Given the description of an element on the screen output the (x, y) to click on. 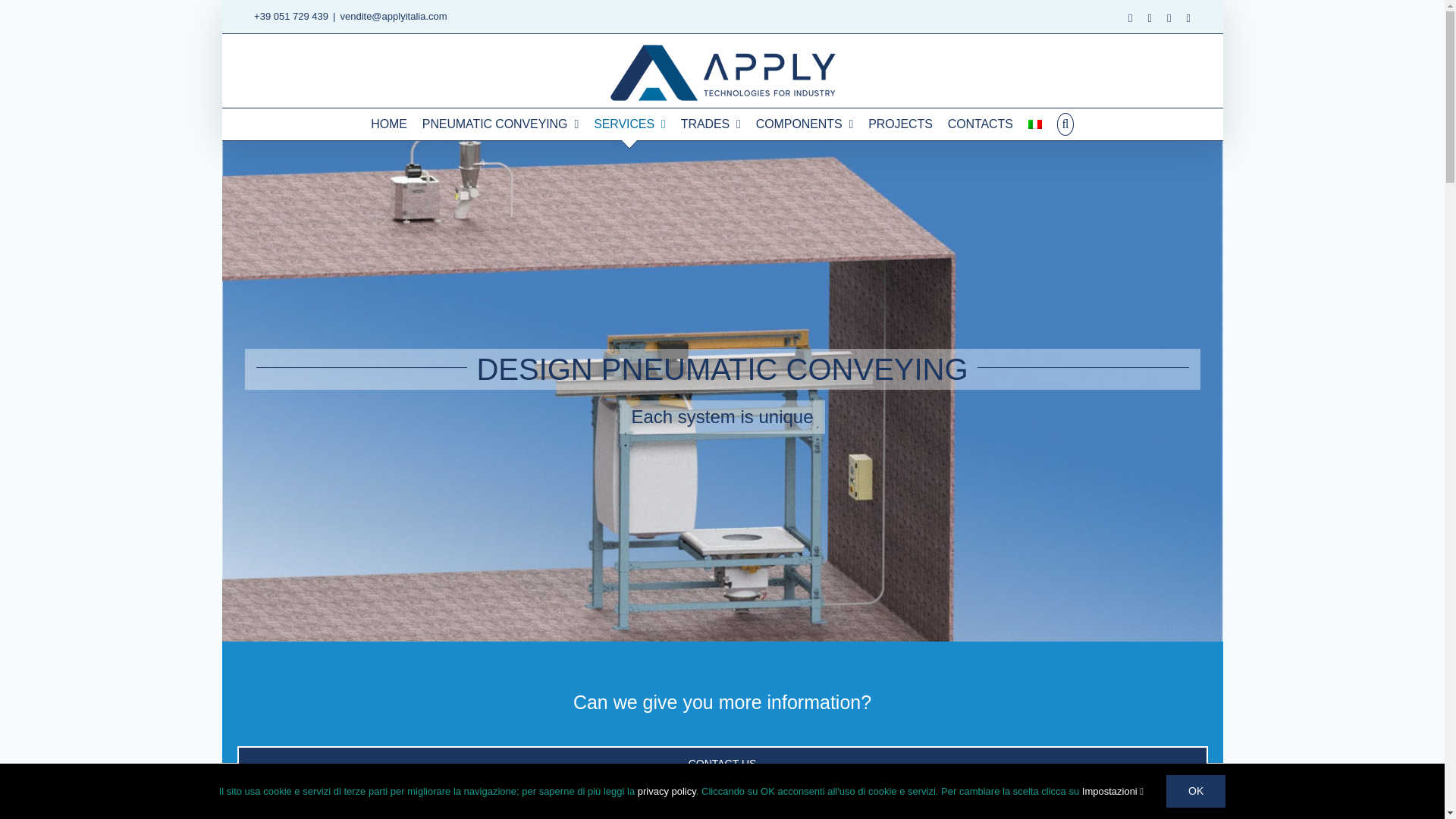
PROJECTS (900, 124)
SERVICES (629, 124)
Can we give you more information? (722, 701)
PNEUMATIC CONVEYING (500, 124)
HOME (389, 124)
COMPONENTS (804, 124)
CONTACT US (722, 790)
TRADES (711, 124)
CONTACTS (980, 124)
